Given the description of an element on the screen output the (x, y) to click on. 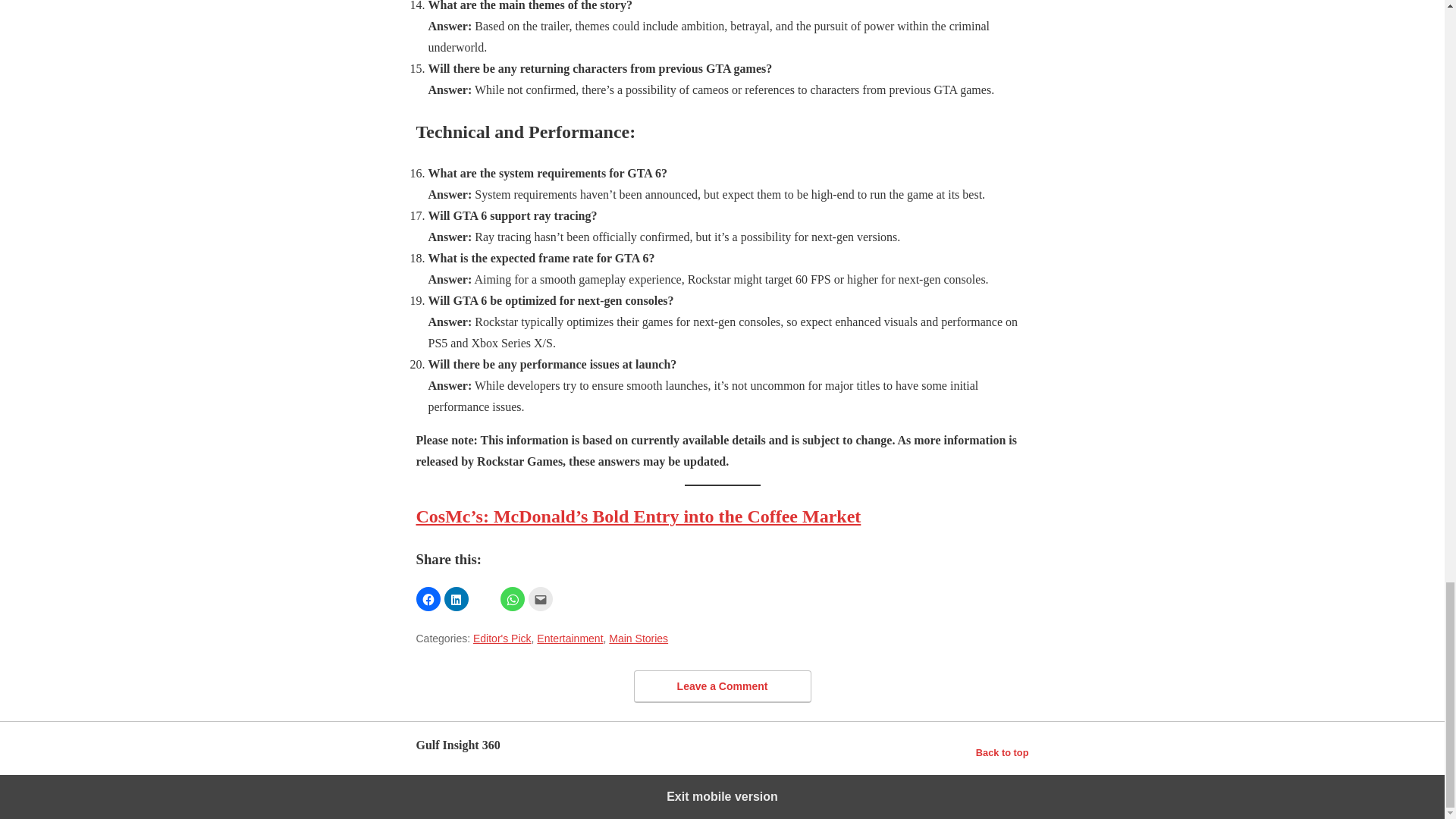
Click to share on WhatsApp (512, 598)
Back to top (1002, 752)
Click to share on LinkedIn (456, 598)
Leave a Comment (721, 686)
Editor's Pick (502, 638)
Click to share on Facebook (426, 598)
Main Stories (638, 638)
Click to share on X (483, 598)
Entertainment (569, 638)
Click to share on Email (539, 598)
